Given the description of an element on the screen output the (x, y) to click on. 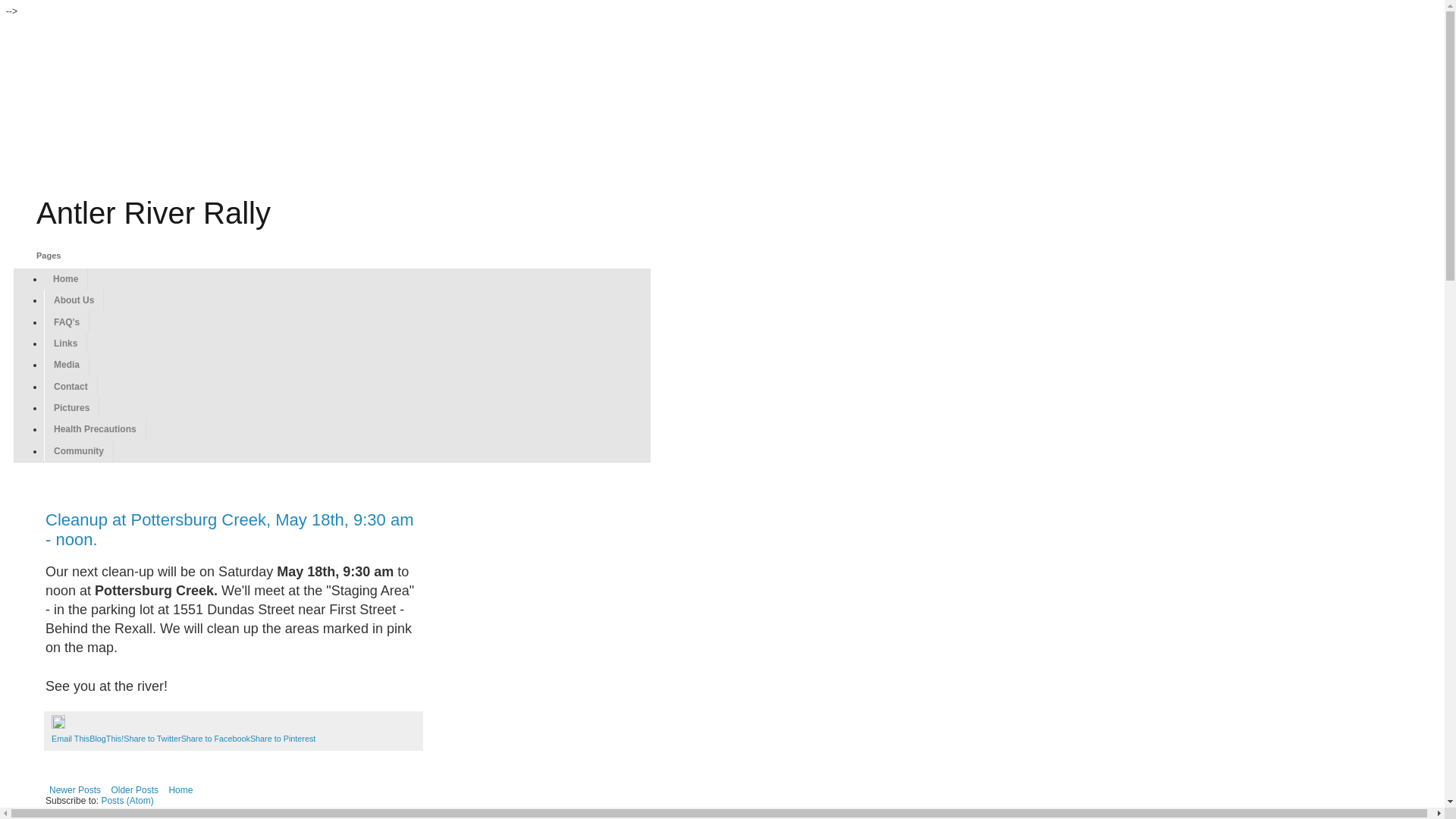
About Us Element type: text (73, 299)
Home Element type: text (180, 790)
FAQ's Element type: text (66, 321)
Share to Facebook Element type: text (215, 738)
Email This Element type: text (70, 738)
Edit Post Element type: hover (58, 725)
Pictures Element type: text (71, 407)
Posts (Atom) Element type: text (126, 799)
Share to Pinterest Element type: text (282, 738)
Community Element type: text (78, 450)
Older Posts Element type: text (134, 790)
Antler River Rally Element type: text (153, 212)
Cleanup at Pottersburg Creek, May 18th, 9:30 am - noon. Element type: text (229, 529)
BlogThis! Element type: text (106, 738)
Media Element type: text (66, 364)
Health Precautions Element type: text (94, 428)
Newer Posts Element type: text (74, 790)
Share to Twitter Element type: text (151, 738)
Contact Element type: text (70, 385)
Home Element type: text (65, 278)
Links Element type: text (65, 343)
